Given the description of an element on the screen output the (x, y) to click on. 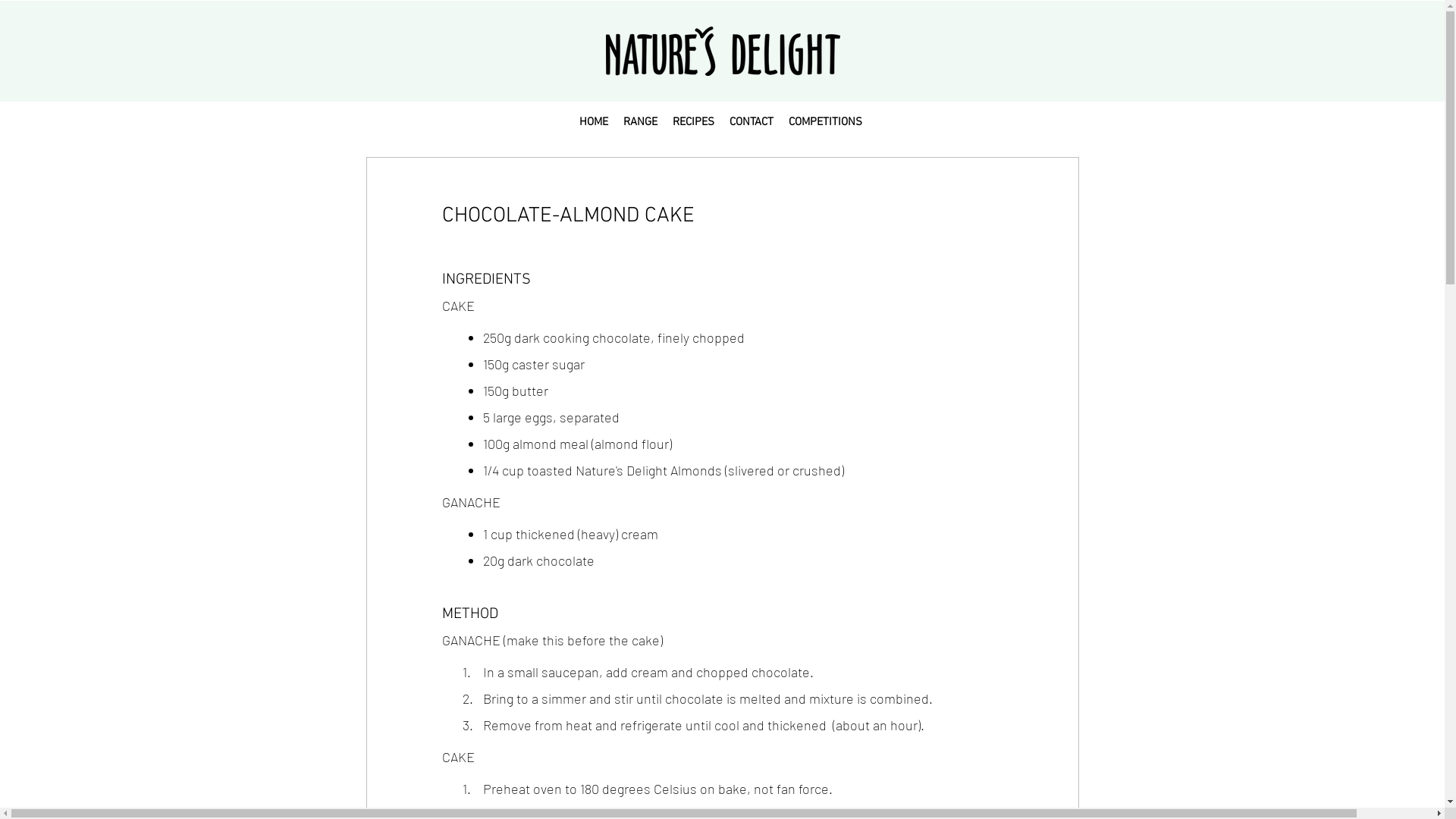
HOME Element type: text (593, 121)
COMPETITIONS Element type: text (825, 121)
RANGE Element type: text (640, 121)
RECIPES Element type: text (693, 121)
CONTACT Element type: text (751, 121)
